Given the description of an element on the screen output the (x, y) to click on. 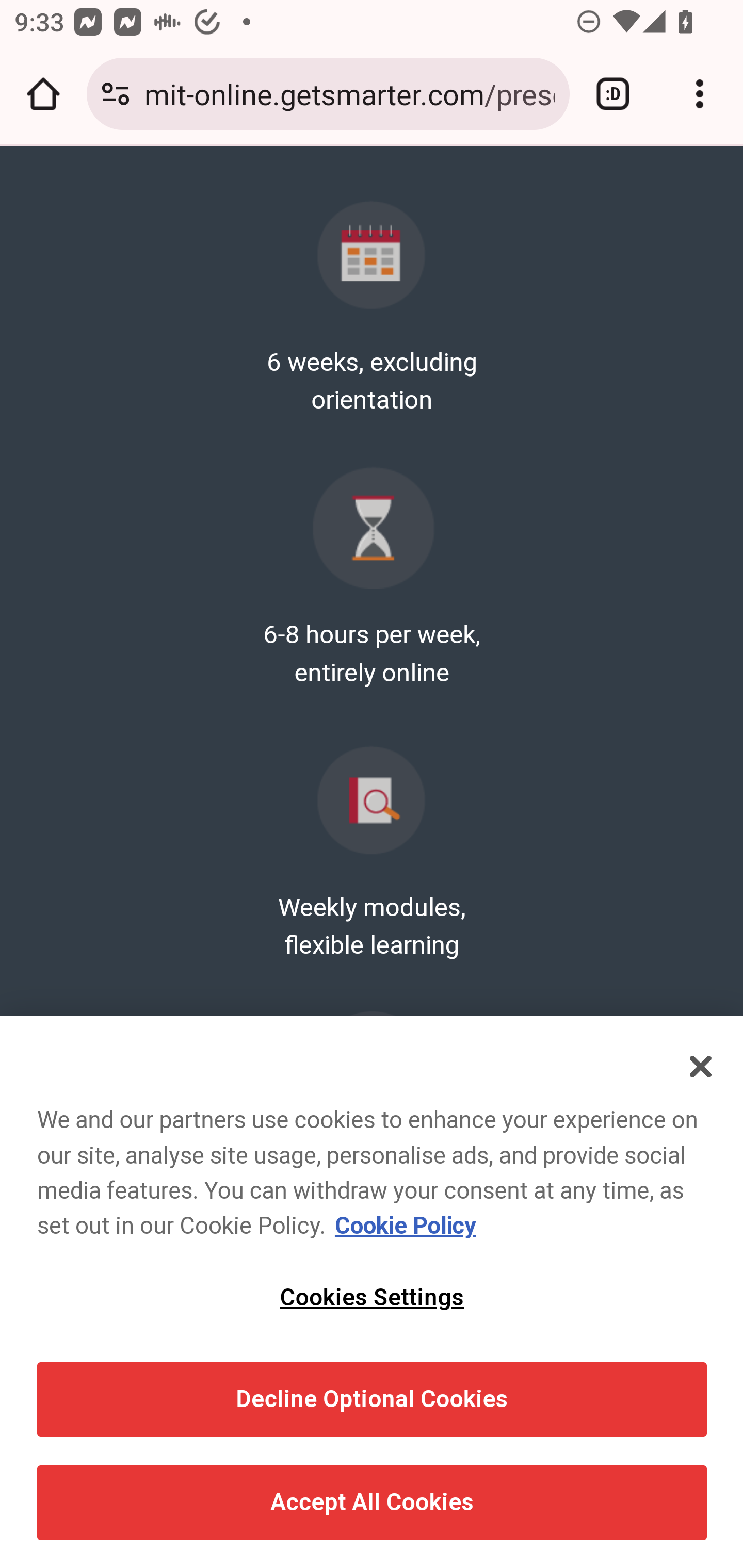
Open the home page (43, 93)
Connection is secure (115, 93)
Switch or close tabs (612, 93)
Customize and control Google Chrome (699, 93)
Close (701, 1067)
Cookies Settings (372, 1298)
Decline Optional Cookies (372, 1399)
Accept All Cookies (372, 1504)
